Given the description of an element on the screen output the (x, y) to click on. 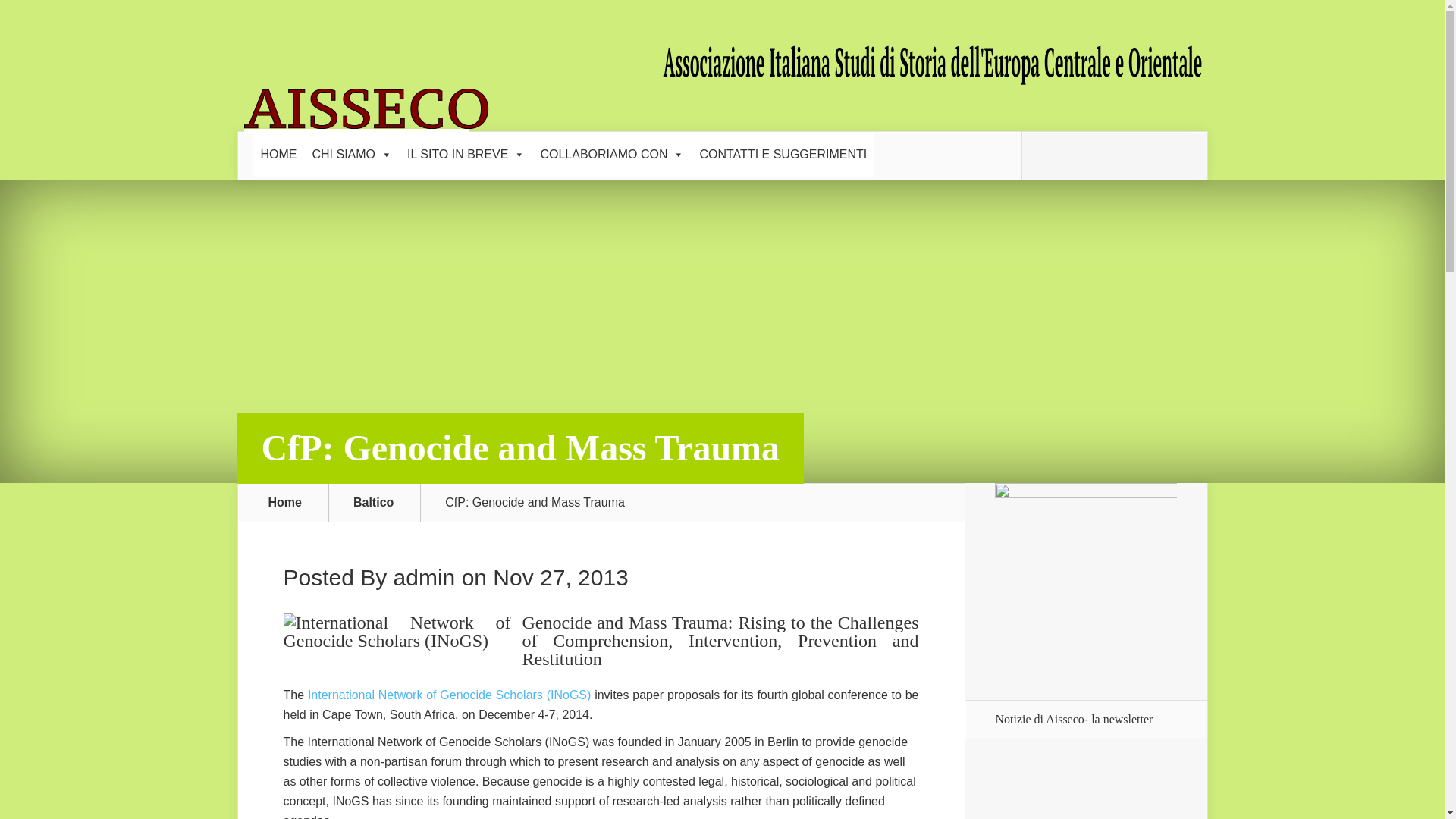
HOME (278, 154)
CHI SIAMO (352, 154)
COLLABORIAMO CON (611, 154)
CONTATTI E SUGGERIMENTI (783, 154)
admin (424, 577)
Posts by admin (424, 577)
Subscribe To Rss Feed (1044, 155)
IL SITO IN BREVE (465, 154)
Home (285, 502)
Baltico (382, 502)
